Given the description of an element on the screen output the (x, y) to click on. 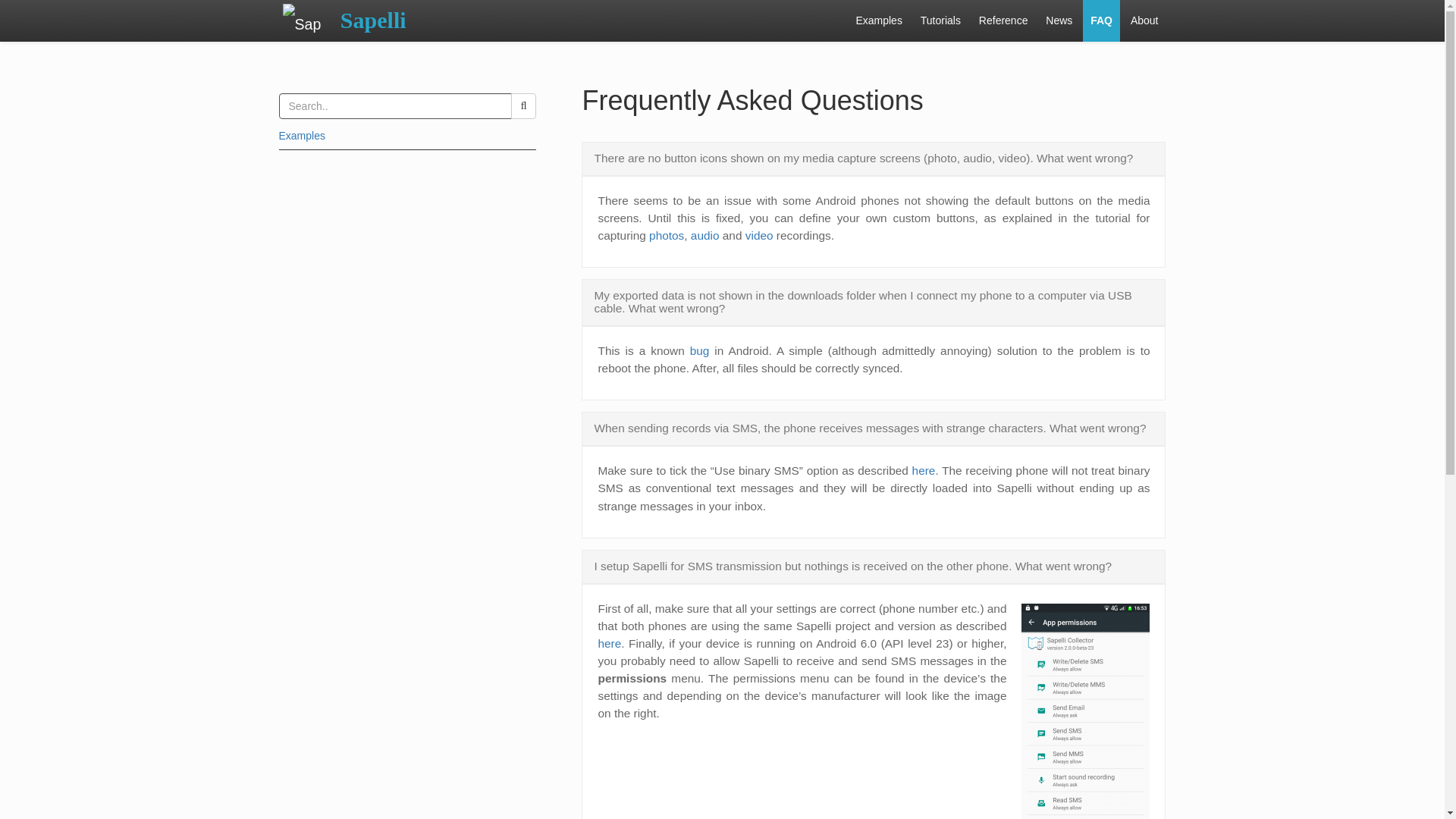
here (608, 643)
bug (700, 350)
Examples (301, 135)
audio (704, 235)
FAQ (1101, 20)
About (1144, 20)
Reference (1003, 20)
video (759, 235)
News (1059, 20)
photos (666, 235)
Sapelli (373, 20)
Tutorials (940, 20)
here (924, 470)
Frequently Asked Questions (751, 100)
Examples (877, 20)
